Given the description of an element on the screen output the (x, y) to click on. 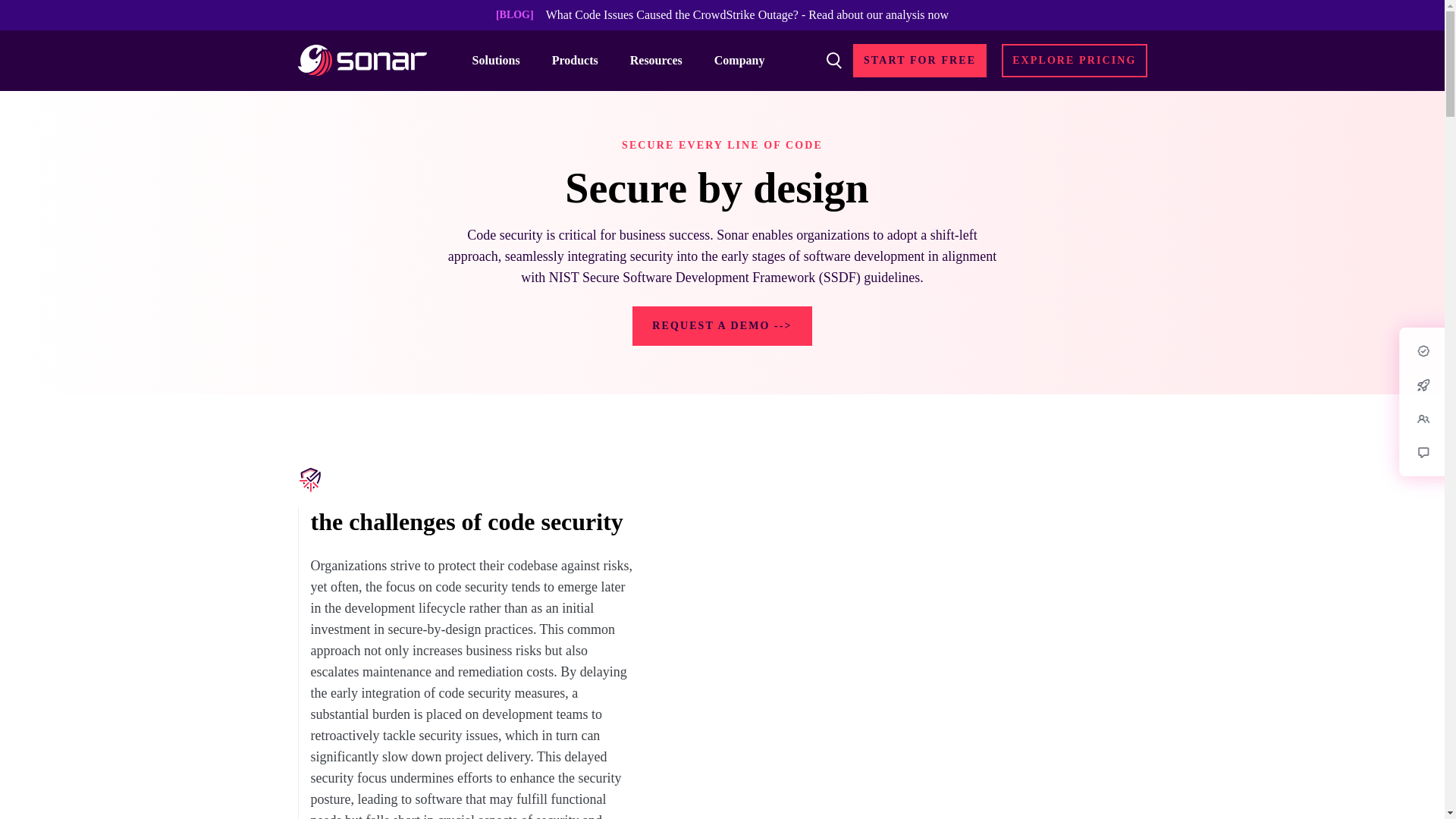
Resources (662, 60)
Solutions (502, 60)
Home (361, 60)
Products (581, 60)
